Given the description of an element on the screen output the (x, y) to click on. 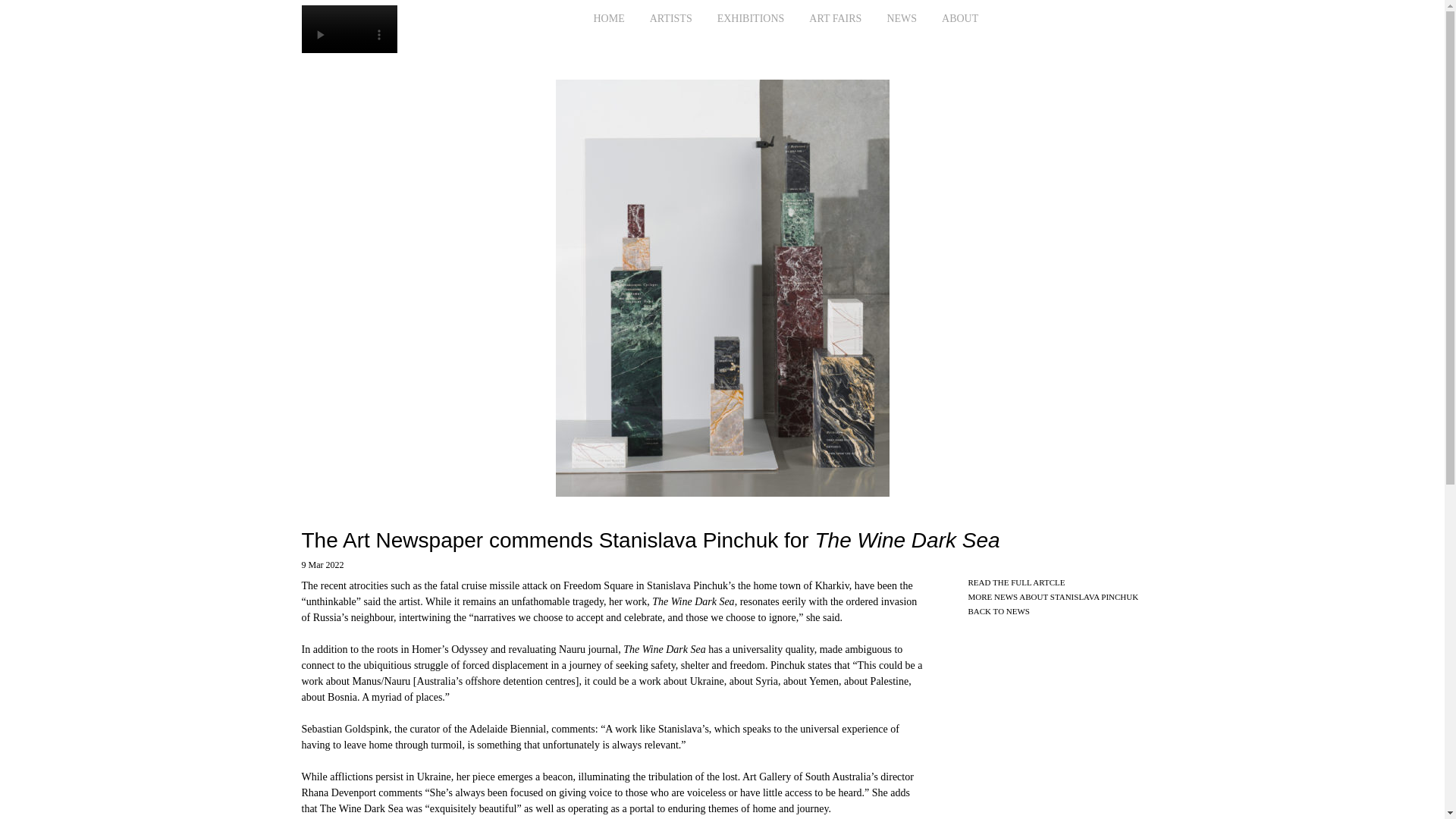
ABOUT (960, 18)
EXHIBITIONS (751, 18)
HOME (607, 18)
READ THE FULL ARTCLE (1016, 582)
ARTISTS (671, 18)
NEWS (901, 18)
MORE NEWS ABOUT STANISLAVA PINCHUK (1053, 596)
ART FAIRS (834, 18)
BACK TO NEWS (998, 610)
